Given the description of an element on the screen output the (x, y) to click on. 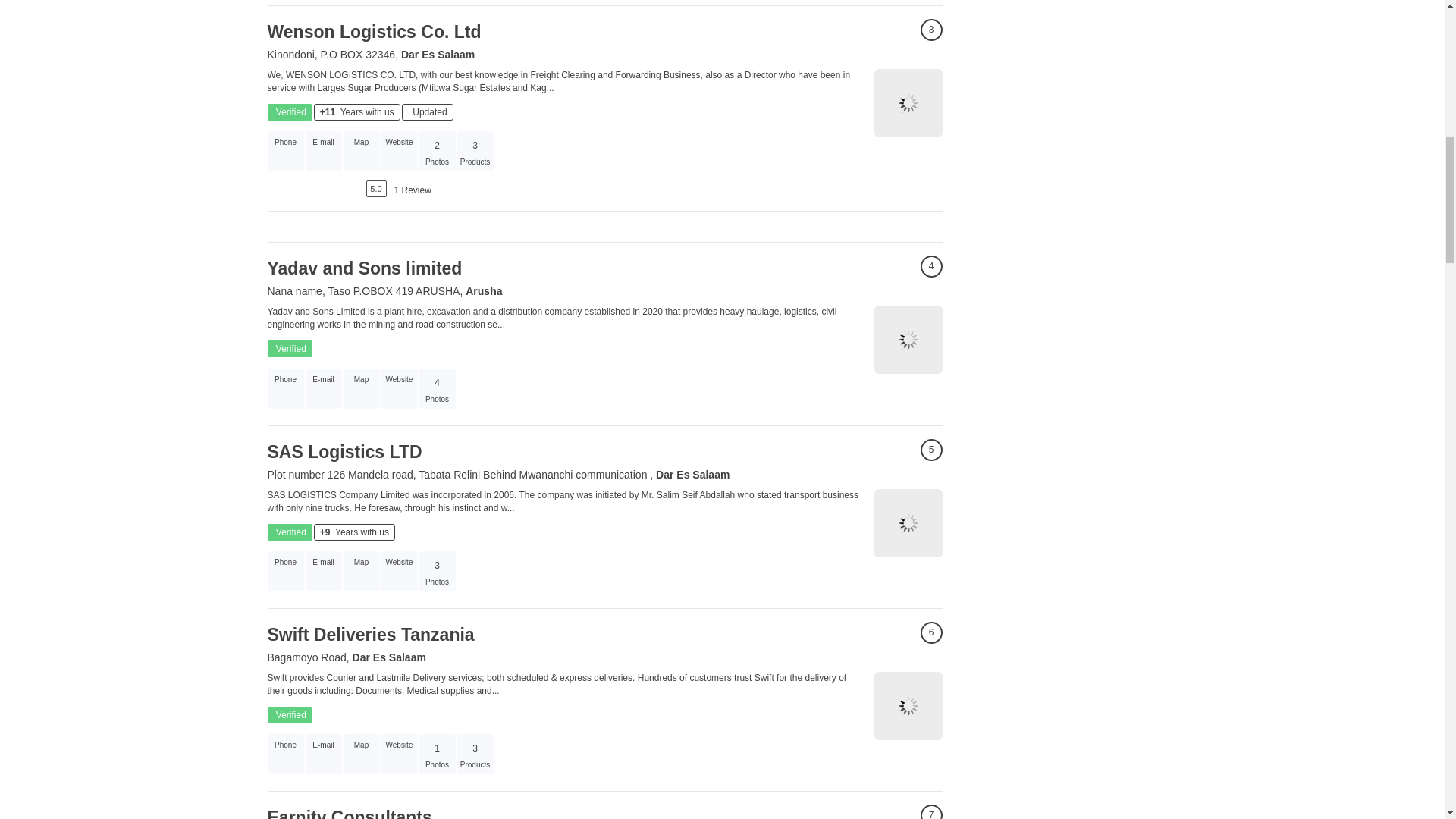
Wenson Logistics Co. Ltd (373, 31)
Wenson Logistics Co. Ltd Business Page (907, 102)
Companies in Dar Es Salaam (437, 54)
Dar Es Salaam (437, 54)
Wenson Logistics Co. Ltd (373, 31)
